Given the description of an element on the screen output the (x, y) to click on. 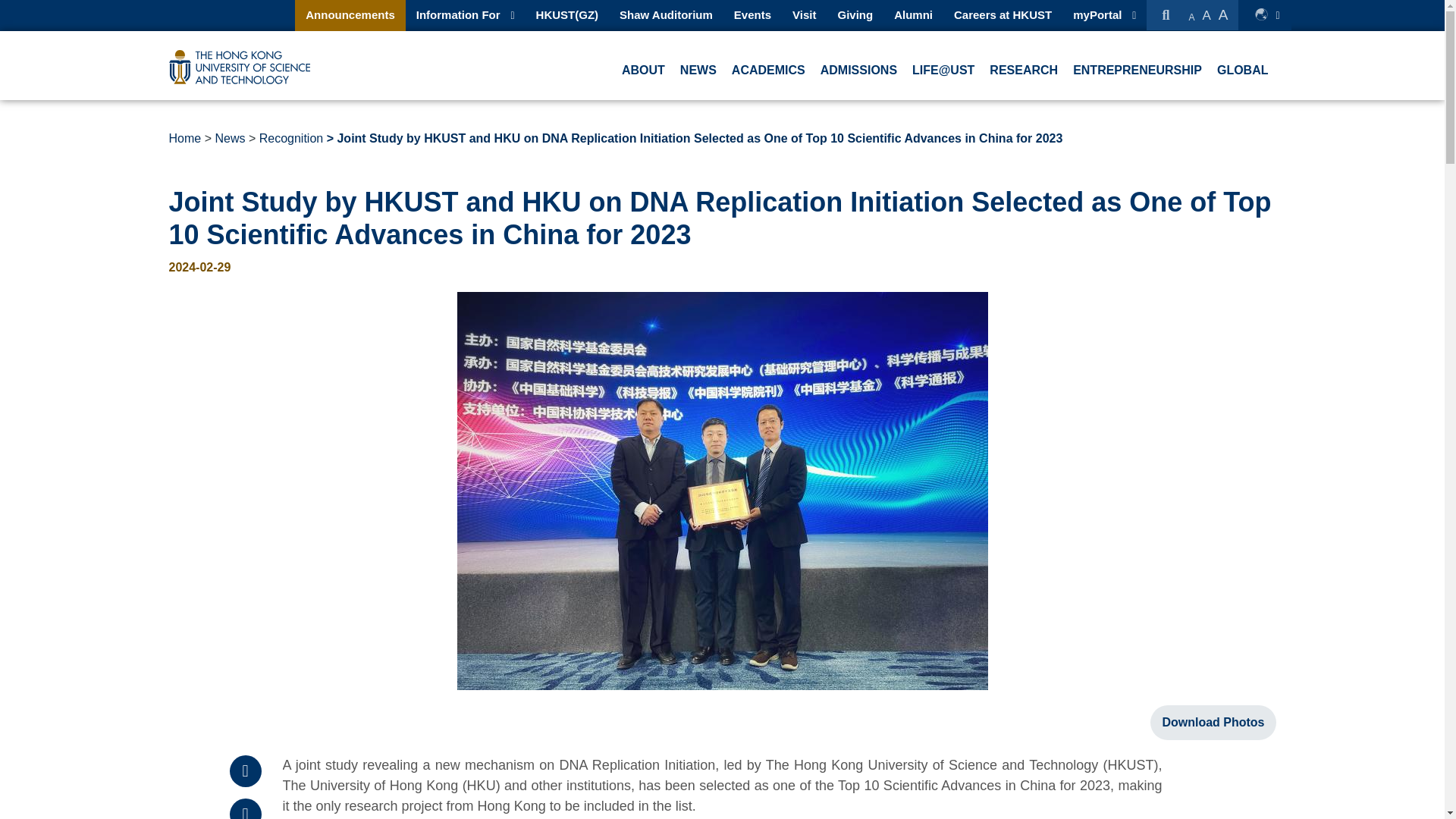
Shaw Auditorium (666, 14)
A (1206, 15)
A (1227, 14)
NEWS (697, 69)
Alumni (913, 14)
ABOUT (643, 69)
Events (752, 14)
Giving (854, 14)
A (1191, 17)
Information For (458, 14)
